Given the description of an element on the screen output the (x, y) to click on. 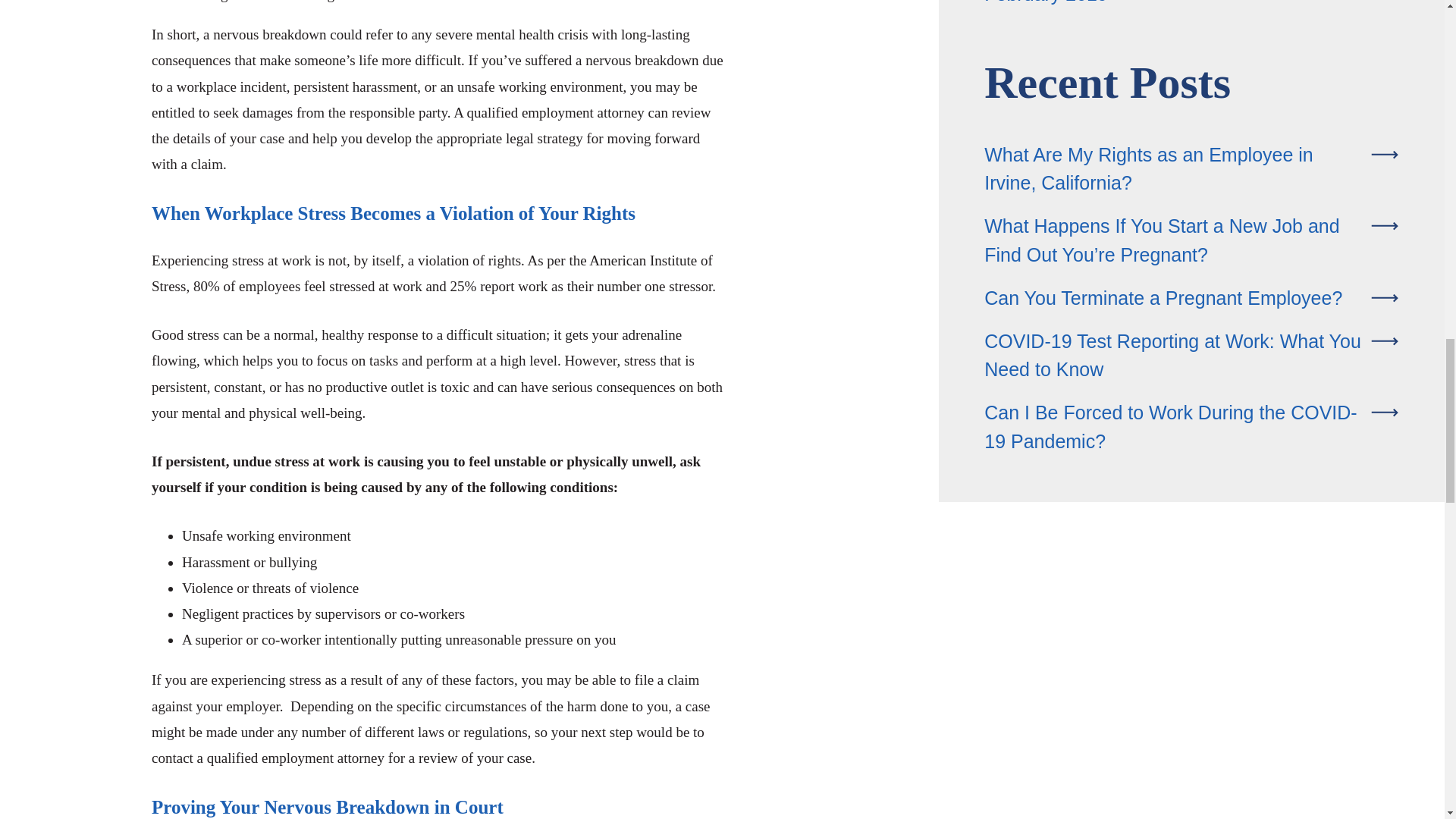
Harassment or bullying (249, 562)
